Given the description of an element on the screen output the (x, y) to click on. 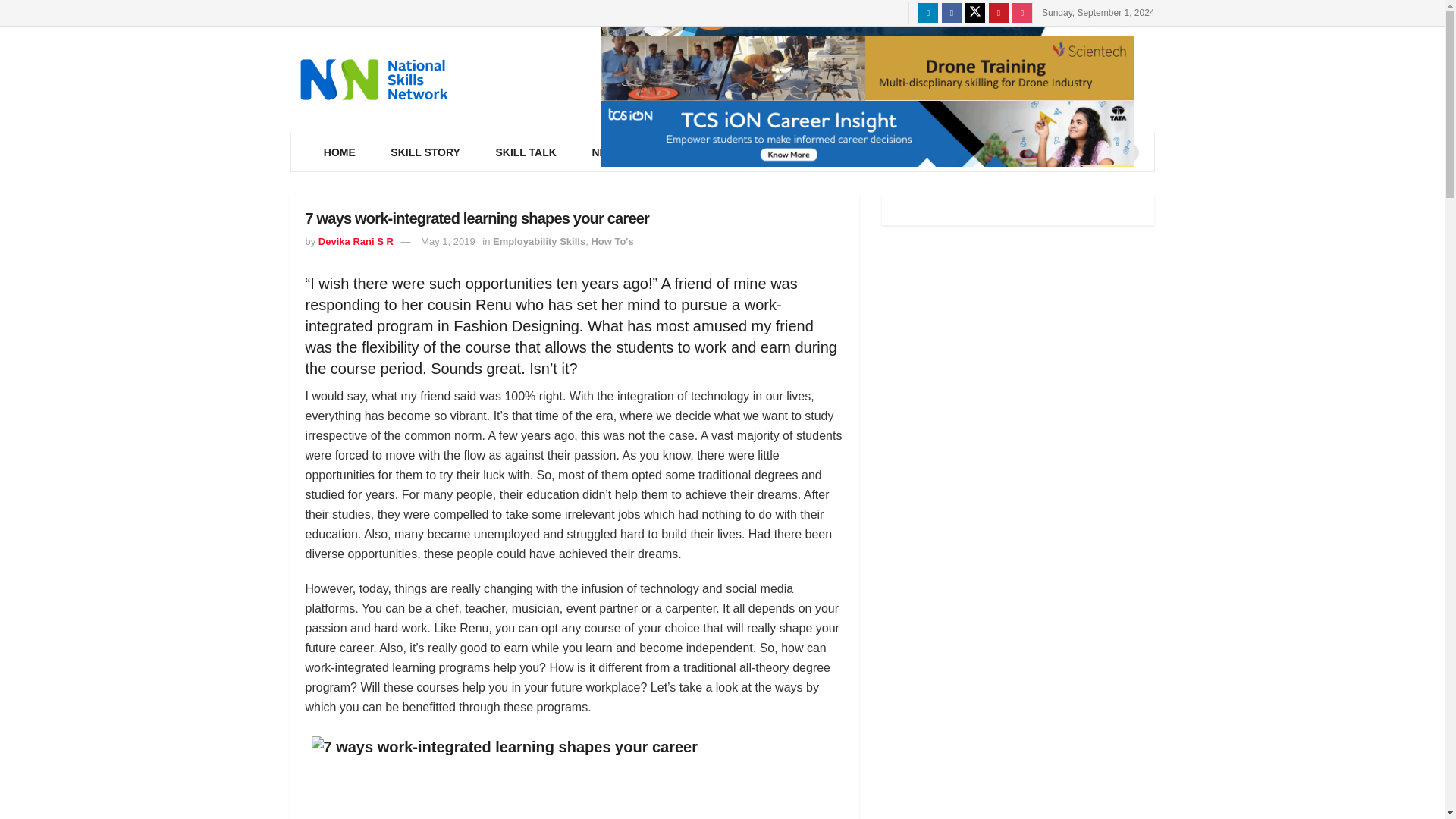
SKILL2JOBS (807, 152)
HOME (339, 152)
SKILL STORY (424, 152)
ABOUT US (908, 152)
RESOURCES (700, 152)
NEWS (609, 152)
SUCCESS STORIES (1024, 152)
SKILL TALK (525, 152)
Drone PNG (865, 68)
